Given the description of an element on the screen output the (x, y) to click on. 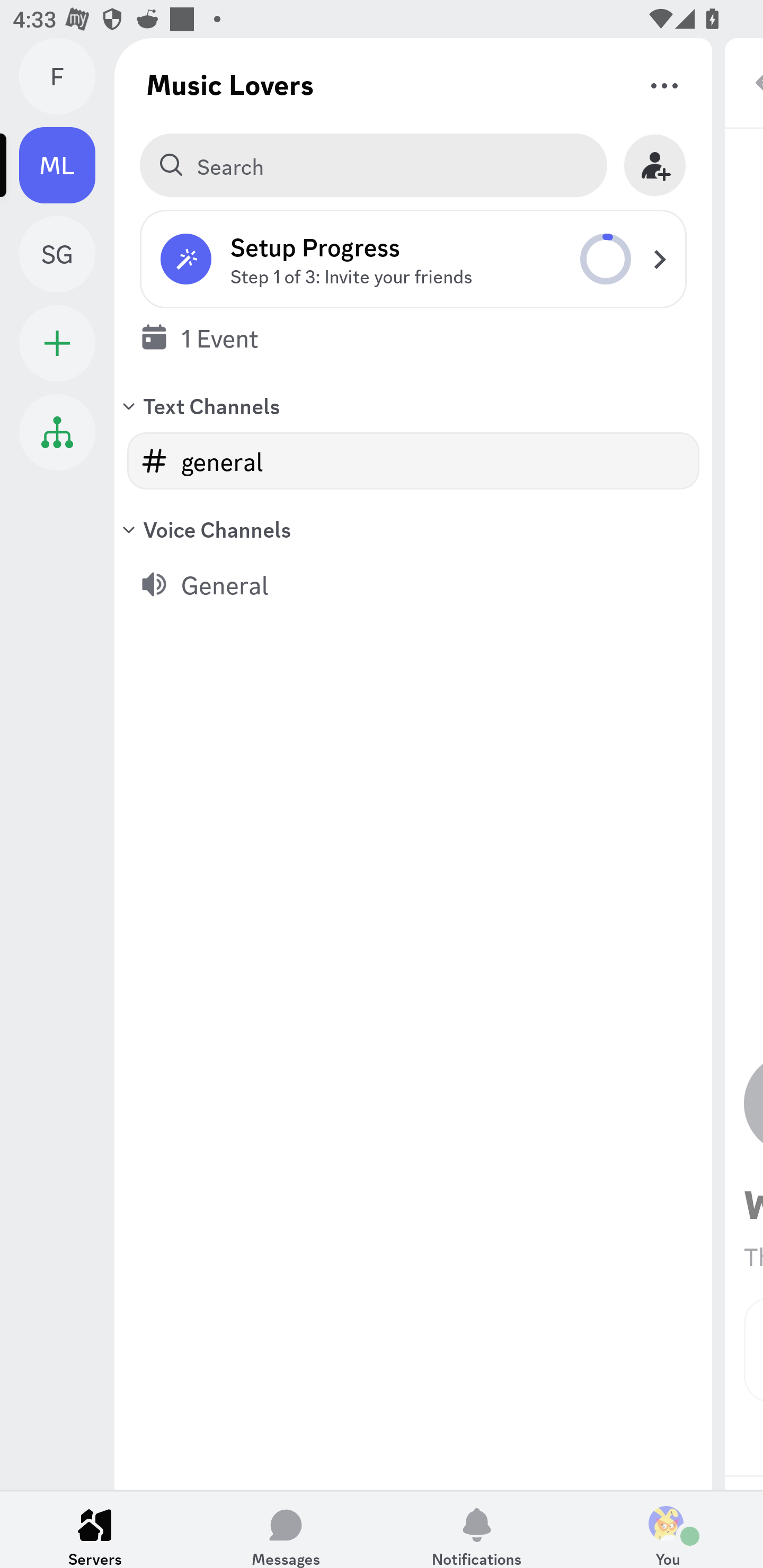
  Friends F (66, 75)
Music Lovers (230, 83)
  Music Lovers ML (66, 165)
Search (373, 165)
Invite (654, 165)
  Study Group SG (66, 253)
Add a Server (57, 343)
Events 1 Event (413, 336)
Text Channels (412, 404)
Student Hub (57, 431)
general (text channel) general (413, 460)
Voice Channels (412, 528)
General (voice channel), 0 users General (413, 584)
Servers (95, 1529)
Messages (285, 1529)
Notifications (476, 1529)
You (667, 1529)
